Given the description of an element on the screen output the (x, y) to click on. 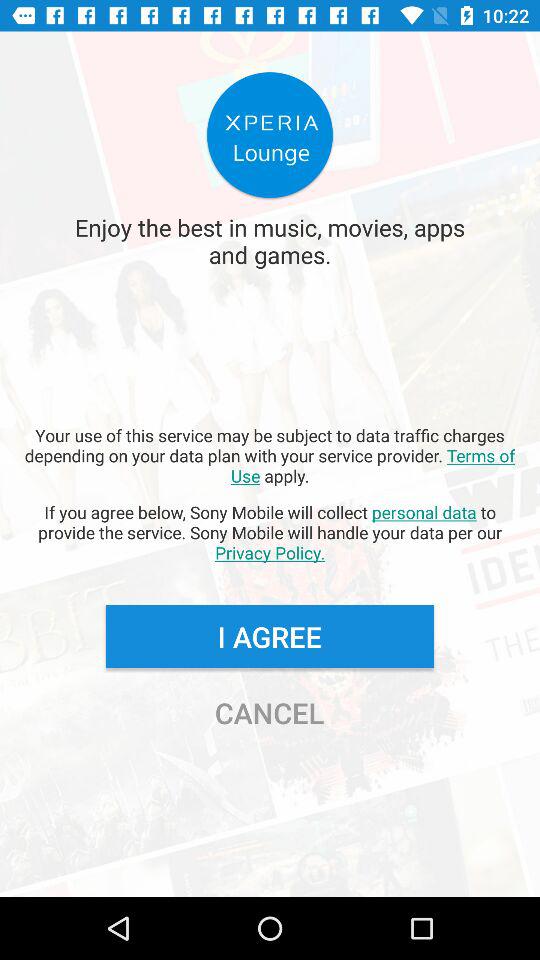
launch the if you agree app (270, 532)
